Given the description of an element on the screen output the (x, y) to click on. 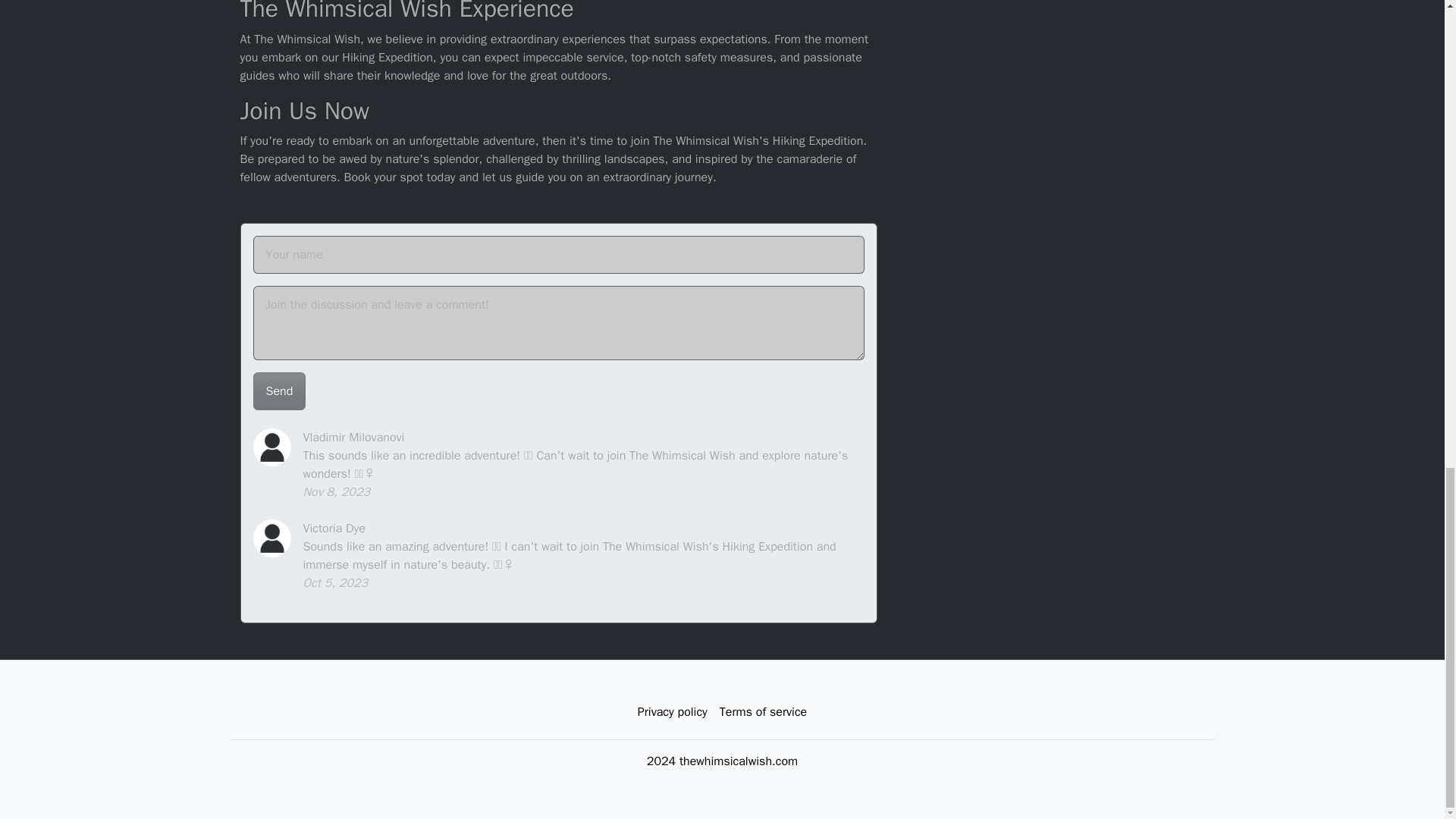
Send (279, 391)
Privacy policy (672, 711)
Send (279, 391)
